Given the description of an element on the screen output the (x, y) to click on. 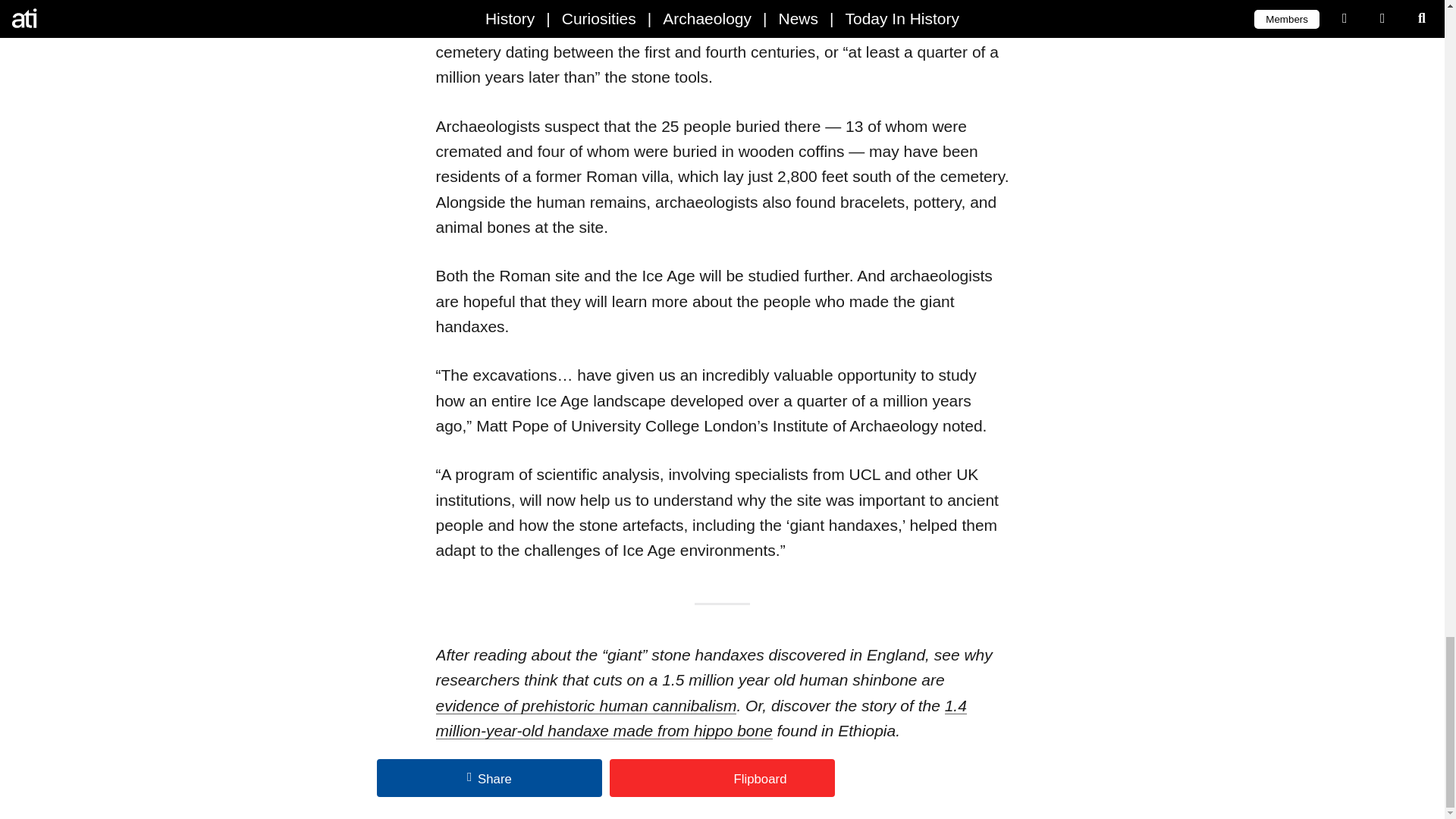
1.4 million-year-old handaxe made from hippo bone (700, 717)
evidence of prehistoric human cannibalism (585, 705)
Flipboard (722, 777)
Share (489, 777)
